Given the description of an element on the screen output the (x, y) to click on. 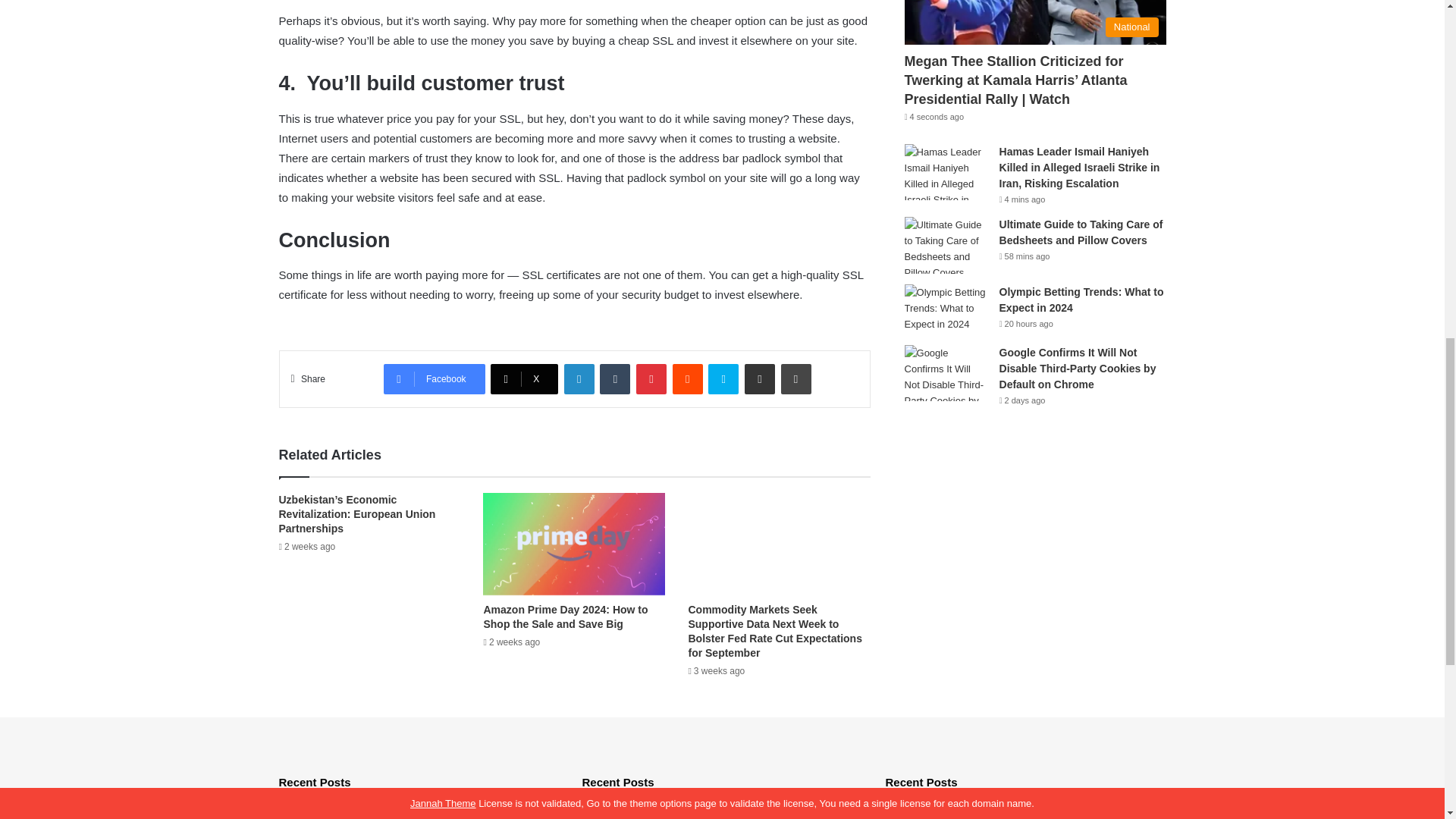
Skype (722, 378)
Print (795, 378)
Skype (722, 378)
LinkedIn (579, 378)
Facebook (434, 378)
Pinterest (651, 378)
Amazon Prime Day 2024: How to Shop the Sale and Save Big (565, 616)
Share via Email (759, 378)
X (523, 378)
Reddit (687, 378)
Reddit (687, 378)
Tumblr (614, 378)
X (523, 378)
Pinterest (651, 378)
LinkedIn (579, 378)
